Given the description of an element on the screen output the (x, y) to click on. 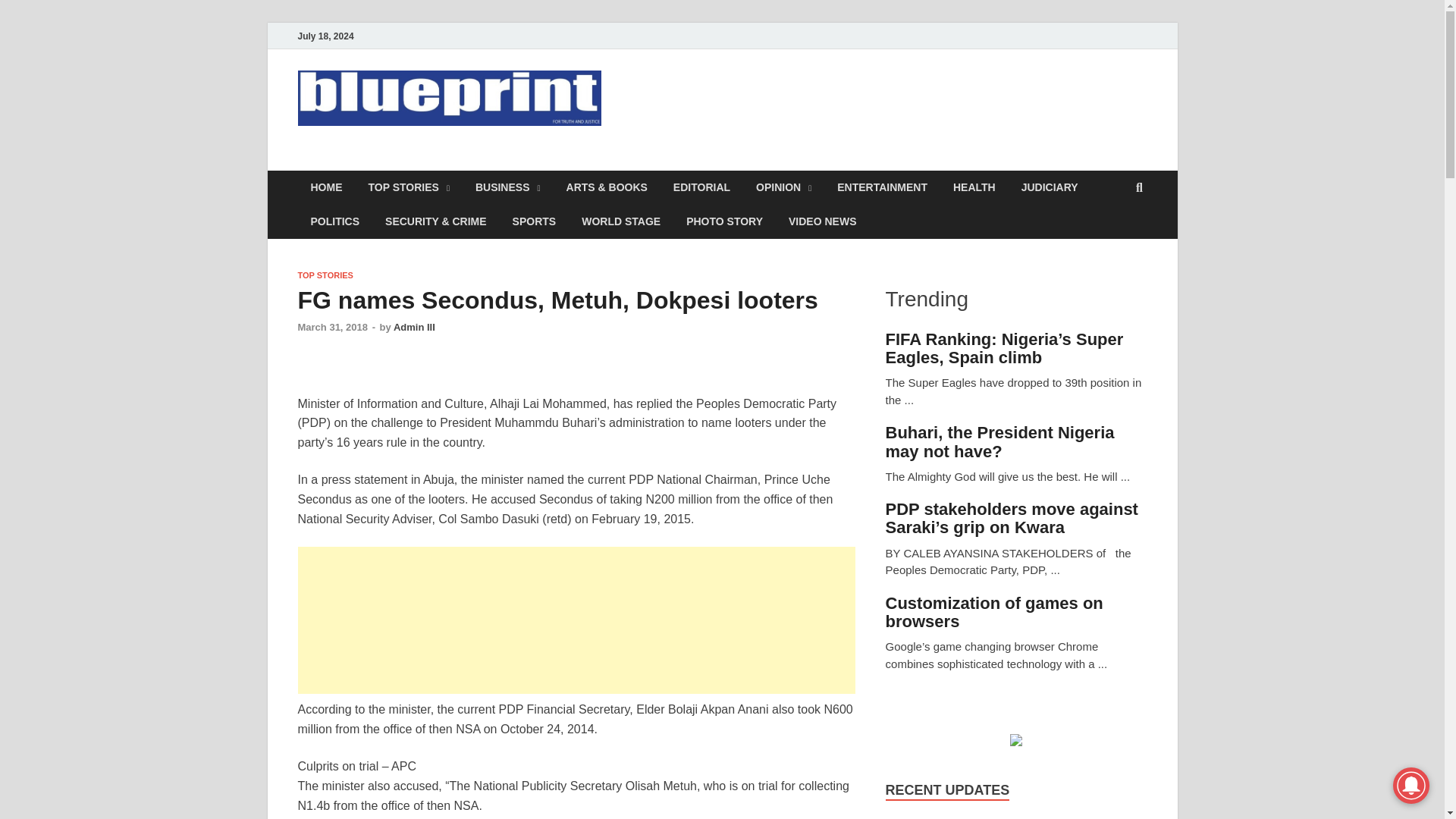
BUSINESS (508, 187)
HOME (326, 187)
OPINION (783, 187)
ENTERTAINMENT (882, 187)
TOP STORIES (408, 187)
EDITORIAL (701, 187)
Advertisement (590, 620)
Blueprint Newspapers Limited (504, 161)
